Given the description of an element on the screen output the (x, y) to click on. 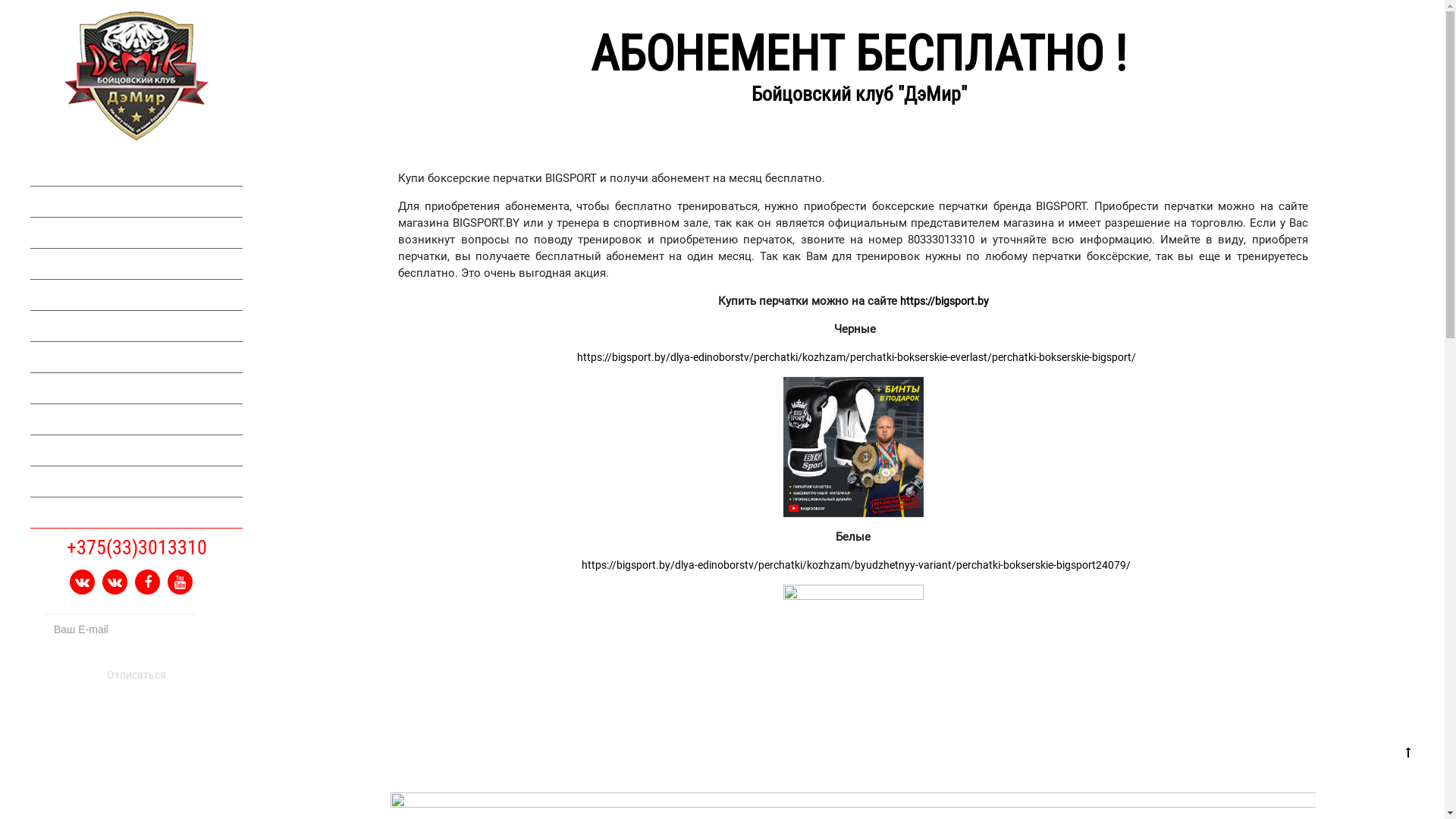
1 Element type: text (214, 629)
https://bigsport.by Element type: text (943, 300)
+375(33)3013310 Element type: text (136, 547)
